Given the description of an element on the screen output the (x, y) to click on. 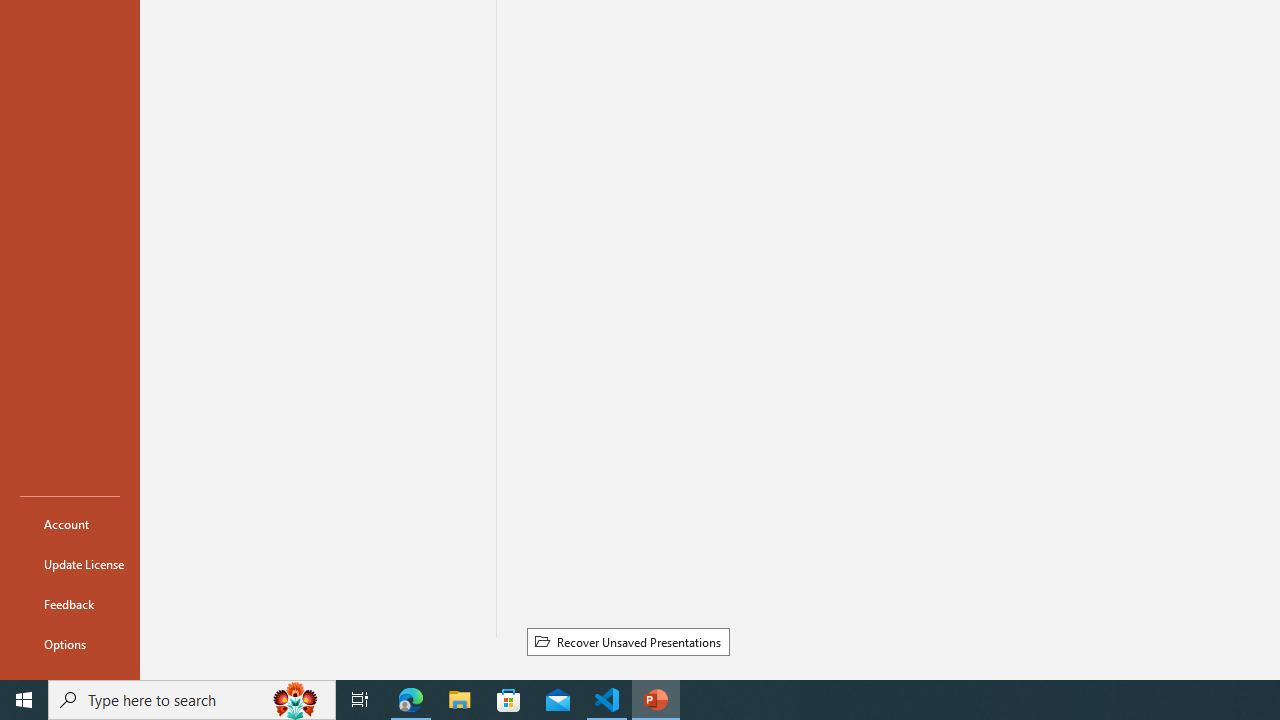
Account (69, 523)
Update License (69, 563)
Feedback (69, 603)
Recover Unsaved Presentations (628, 641)
Options (69, 643)
